Given the description of an element on the screen output the (x, y) to click on. 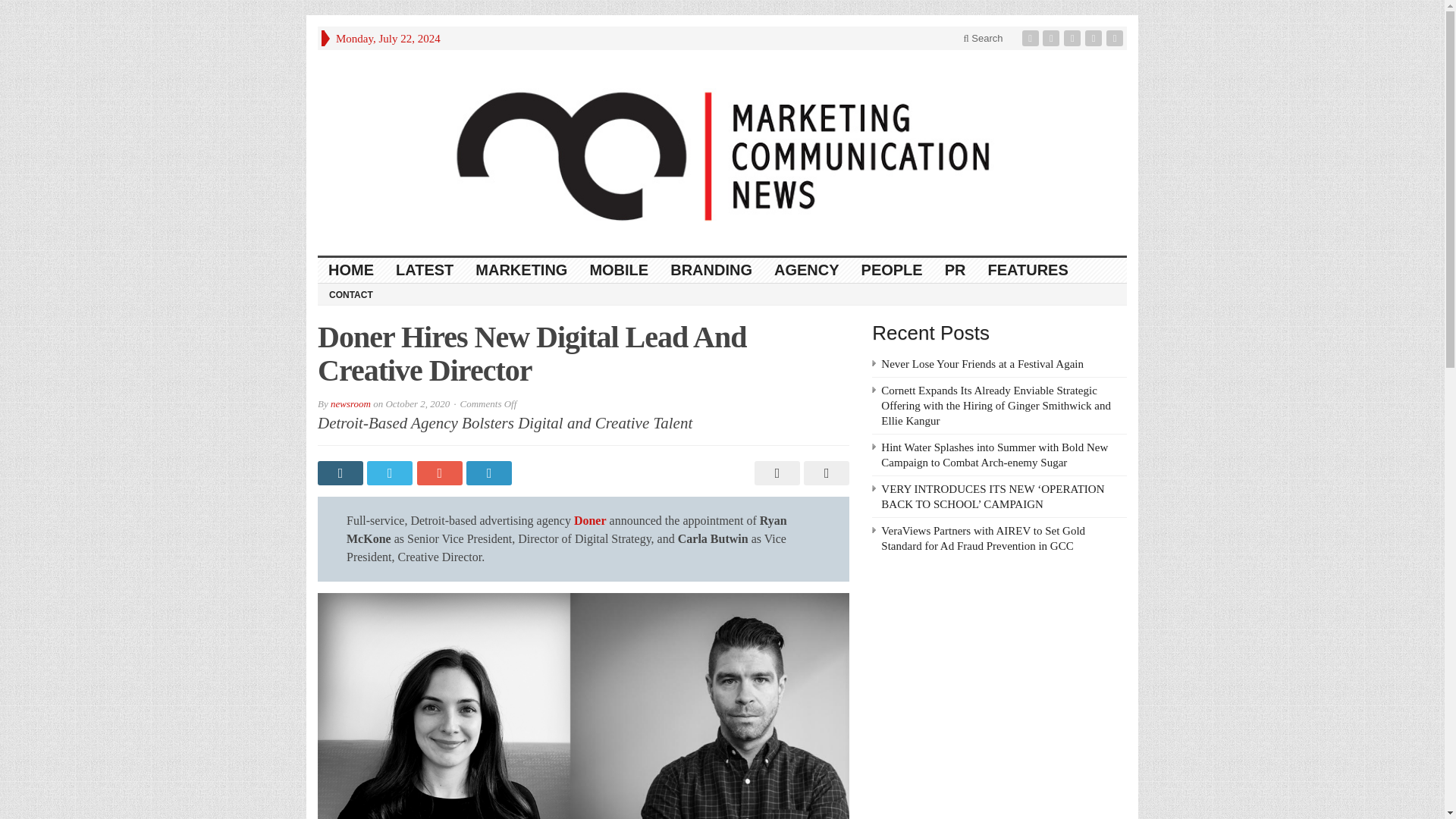
Share on Facebook (341, 473)
AGENCY (806, 269)
PR (955, 269)
Print This Post (775, 473)
Site feed (1115, 37)
newsroom (350, 403)
BRANDING (710, 269)
Doner (590, 520)
CONTACT (350, 293)
Facebook (1032, 37)
HOME (351, 269)
MOBILE (618, 269)
Youtube (1094, 37)
Share on Twitter (391, 473)
